Given the description of an element on the screen output the (x, y) to click on. 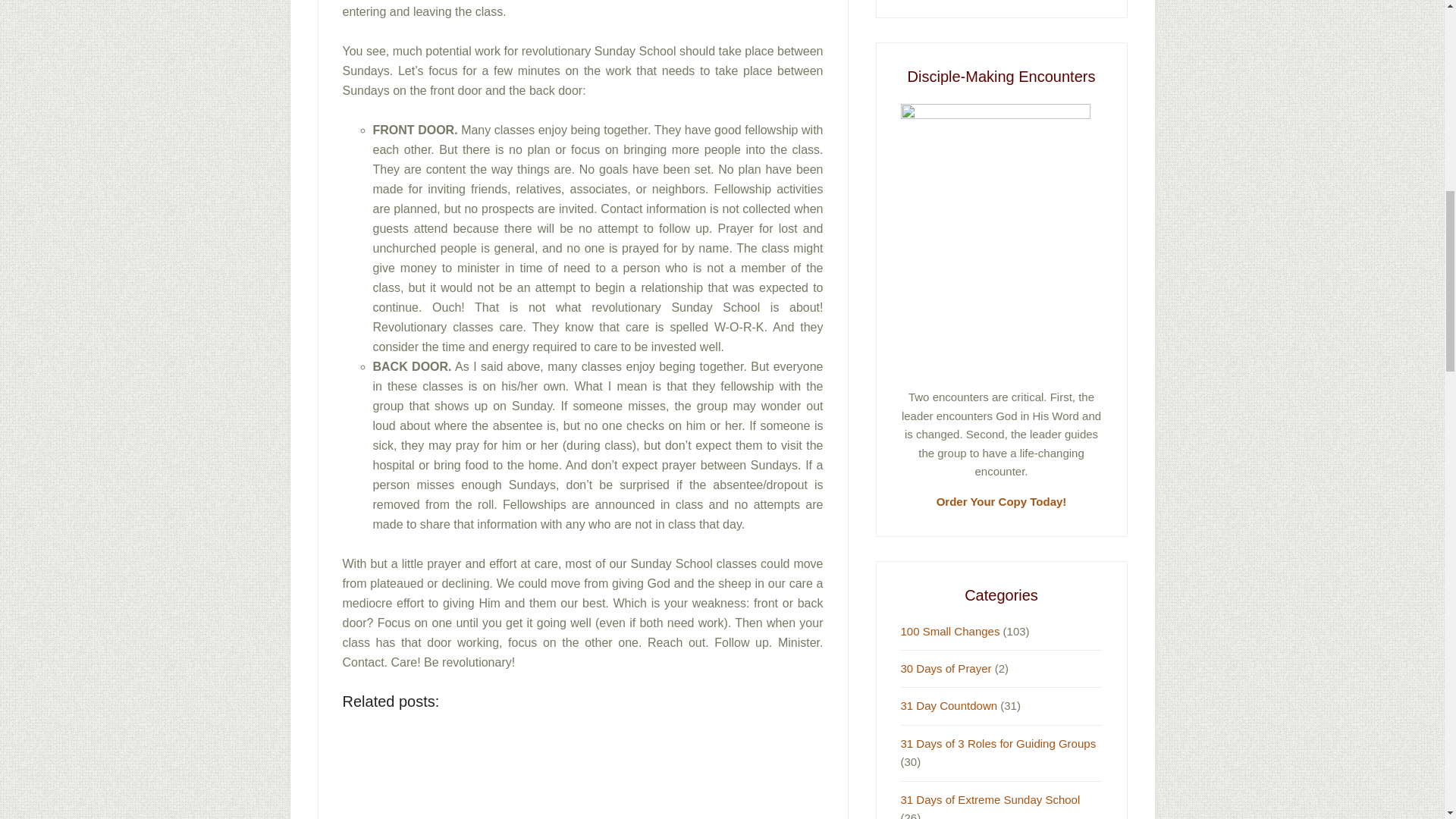
31 Days of 3 Roles for Guiding Groups (998, 743)
Grow Sunday School by Registering Worship Guests (742, 773)
31 Day Countdown (949, 705)
100 Small Changes (950, 631)
Unlocking Sources of Sunday School Prospects (400, 773)
30 Days of Prayer (946, 667)
Order Your Copy Today! (1001, 501)
Care Project: Essential and Simple (514, 773)
